Given the description of an element on the screen output the (x, y) to click on. 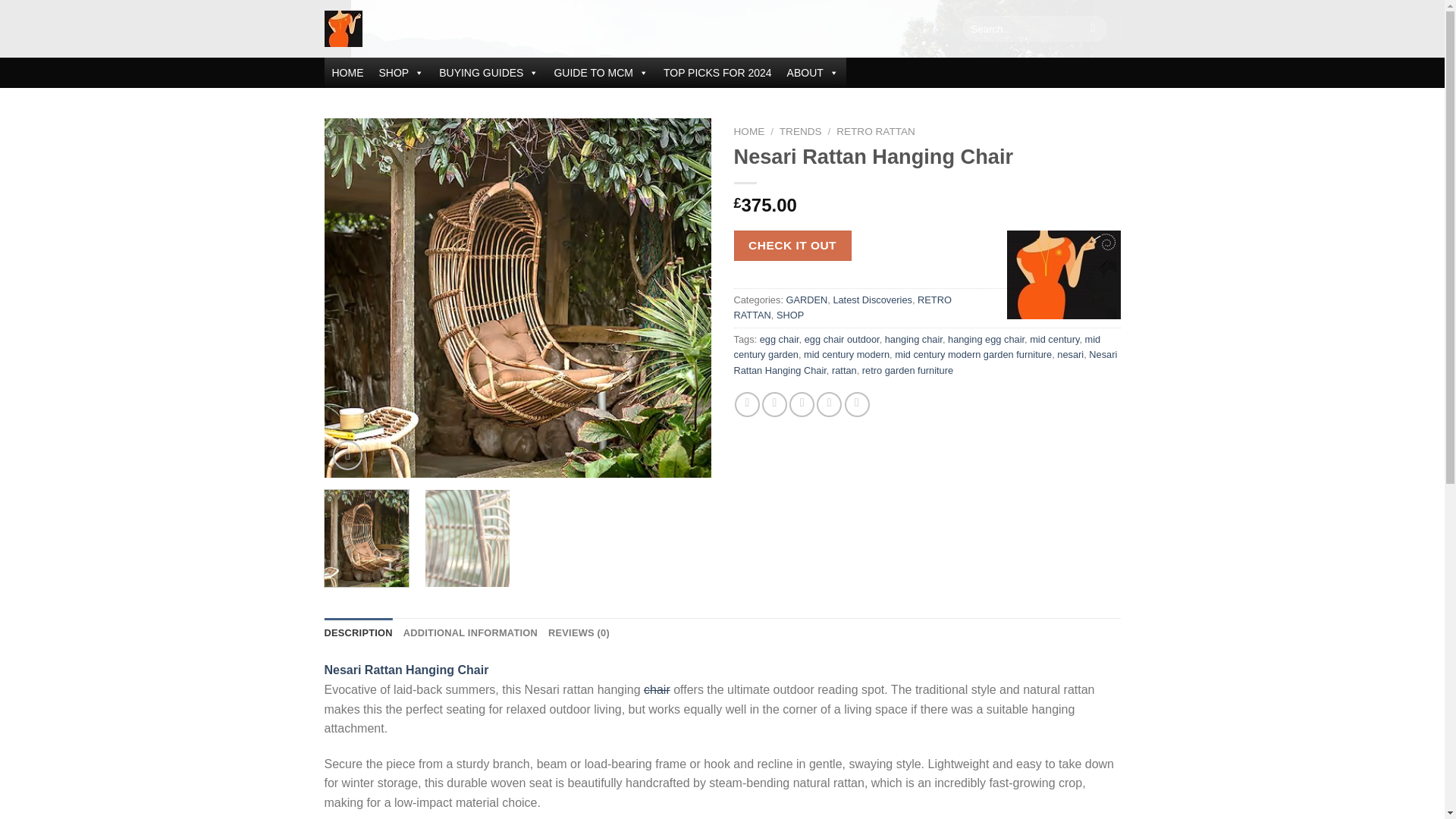
HOME (347, 72)
SHOP (401, 72)
Search (1092, 28)
